Given the description of an element on the screen output the (x, y) to click on. 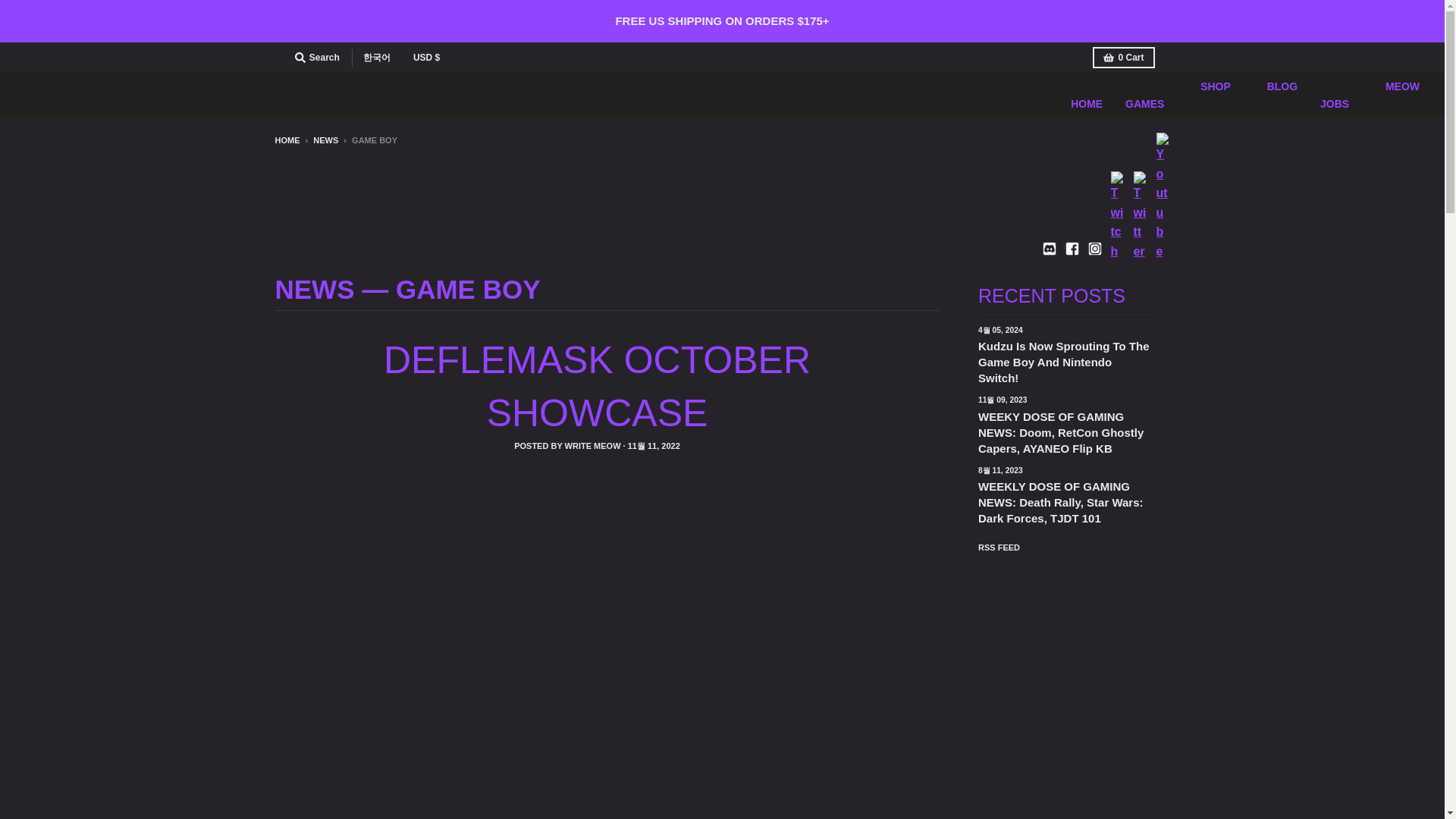
Search (316, 56)
Back to the frontpage (287, 139)
SHOP (1208, 94)
GAMES (1144, 103)
0 Cart (1123, 56)
HOME (1086, 103)
BLOG (1275, 94)
